Given the description of an element on the screen output the (x, y) to click on. 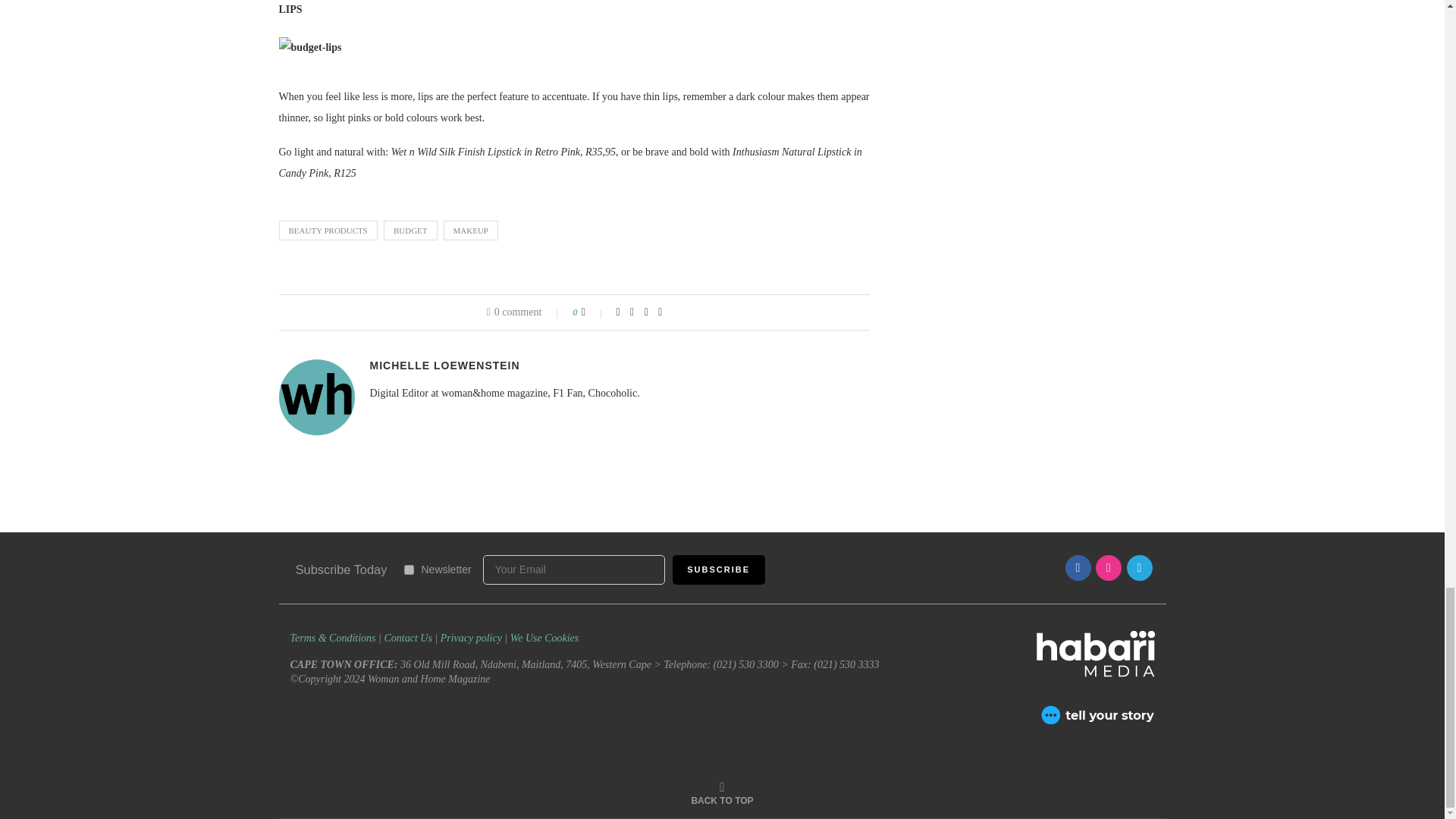
Like (592, 312)
Subscribe (718, 569)
Posts by Michelle Loewenstein (444, 365)
19087 (408, 569)
